Given the description of an element on the screen output the (x, y) to click on. 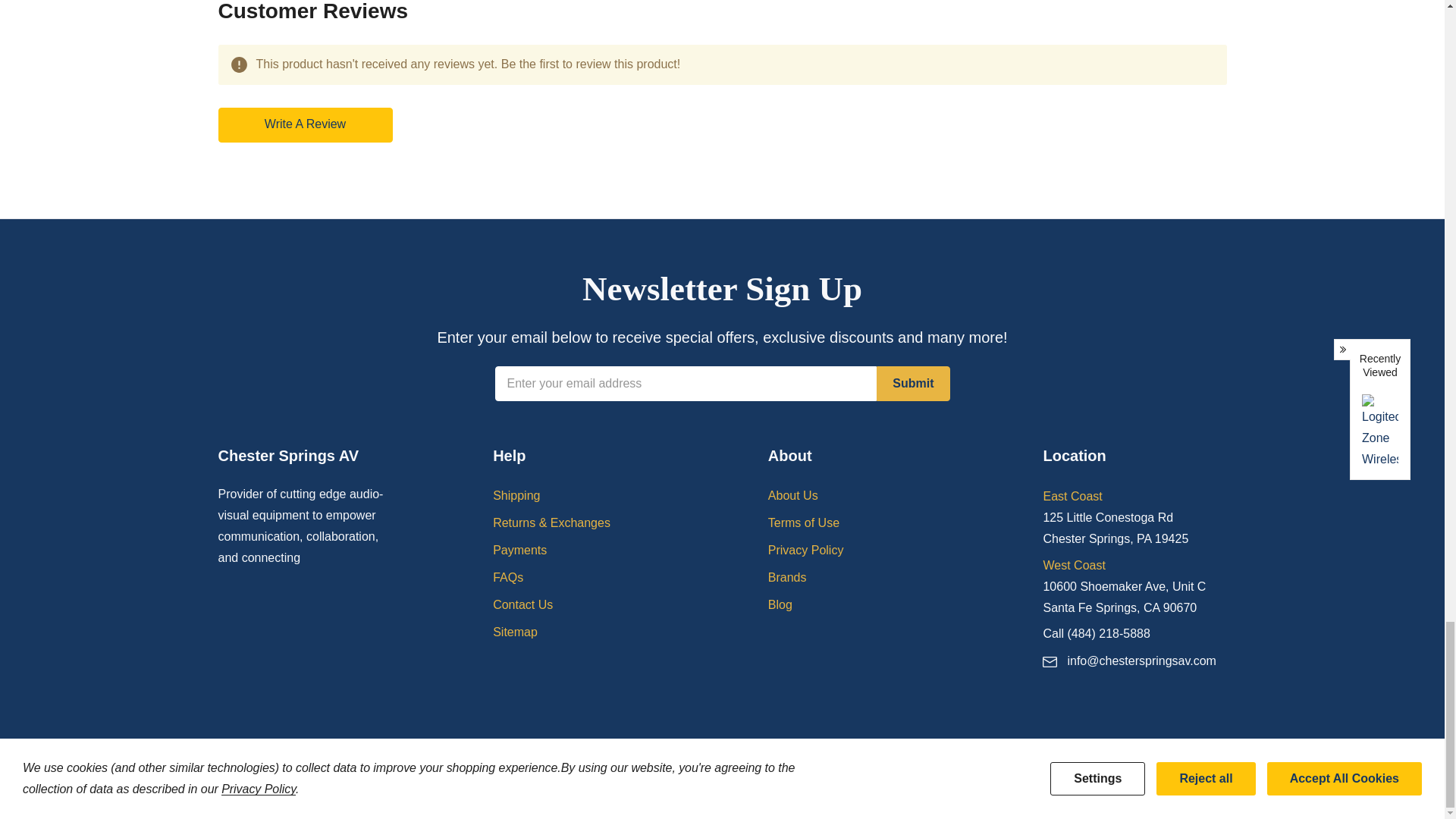
Submit (912, 383)
